Given the description of an element on the screen output the (x, y) to click on. 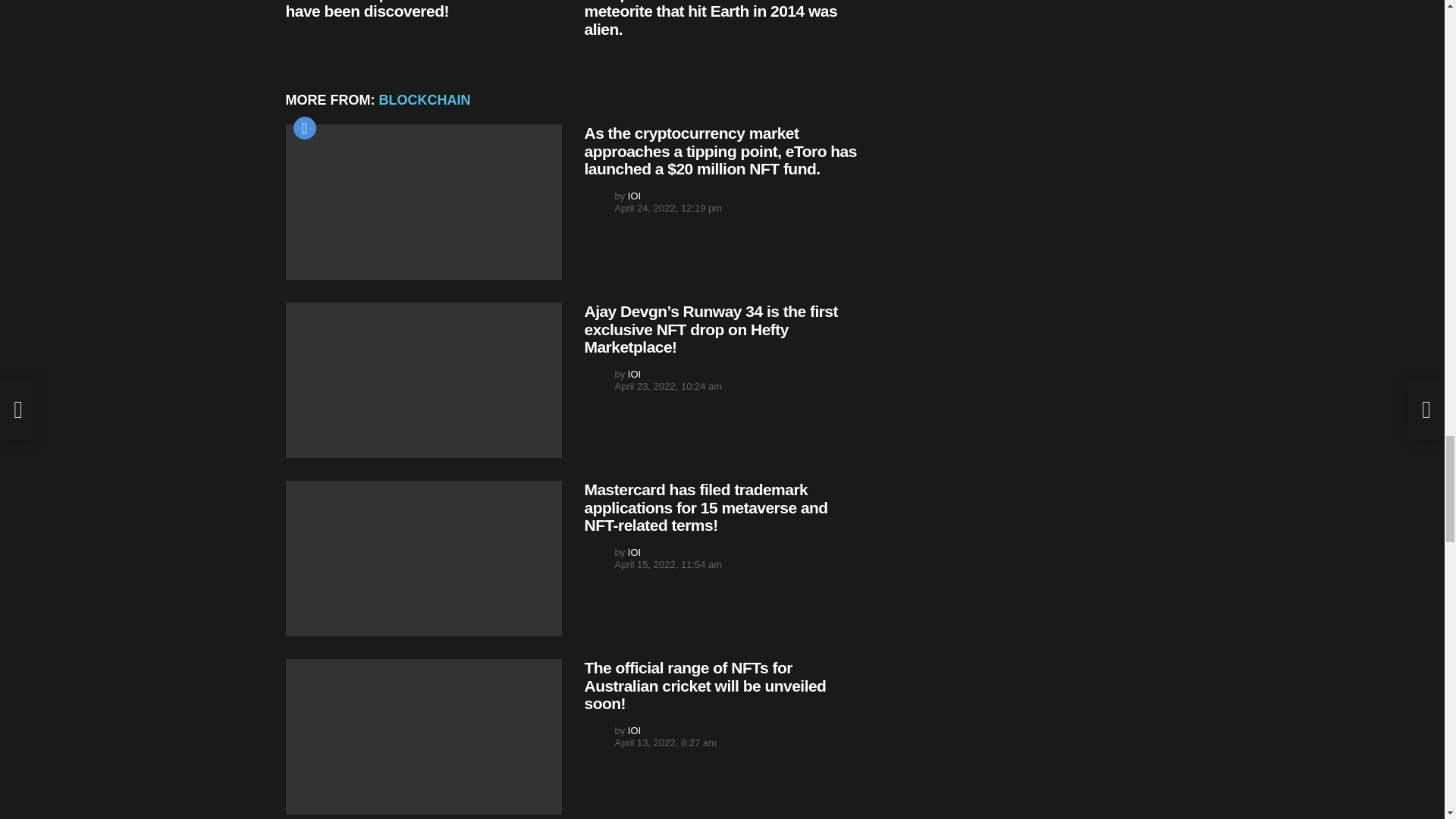
Posts by IOI (633, 374)
Posts by IOI (633, 195)
Popular (303, 128)
